Given the description of an element on the screen output the (x, y) to click on. 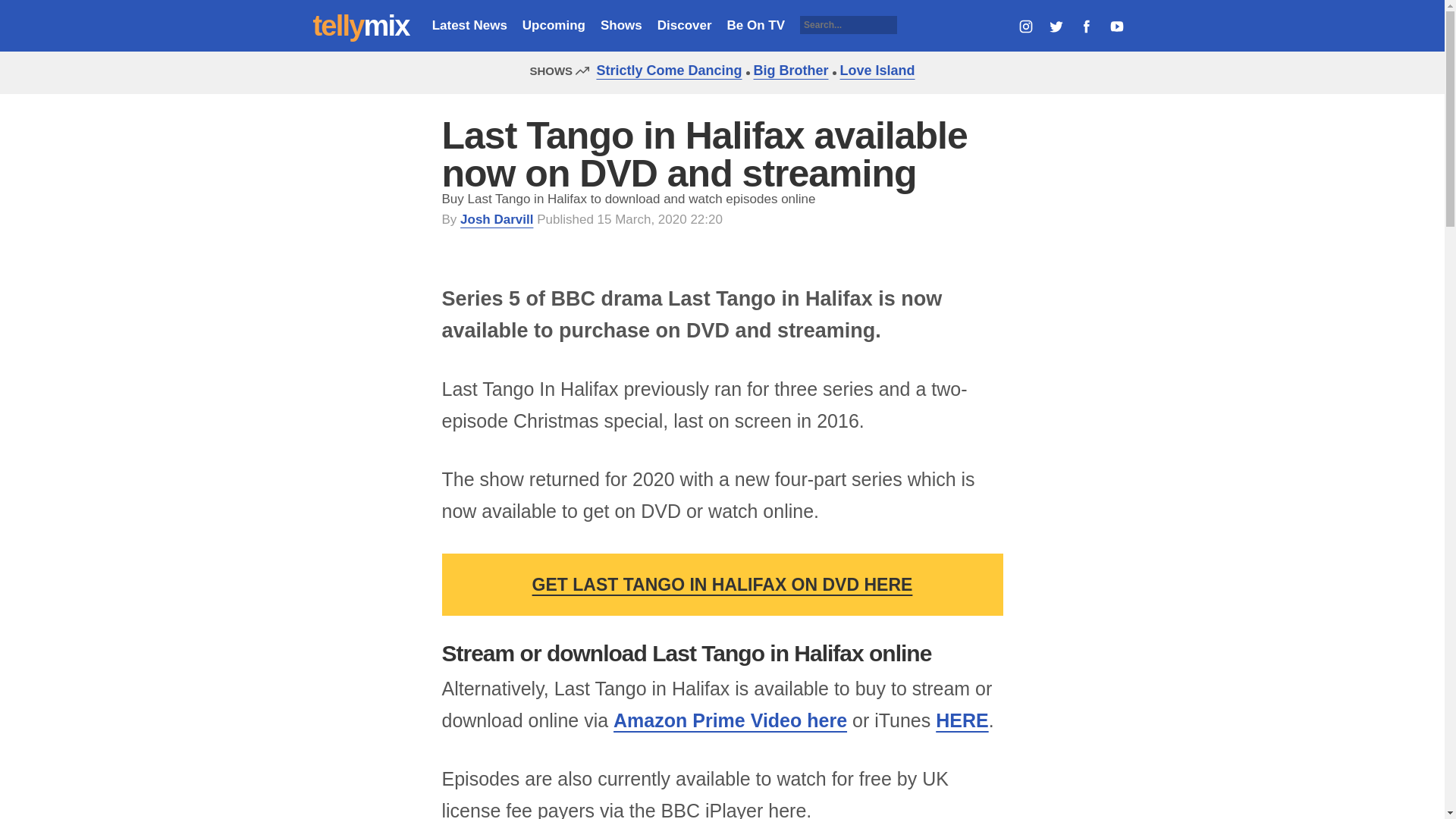
Love Island (873, 70)
Discover (684, 25)
HERE (962, 720)
Amazon Prime Video here (729, 720)
Upcoming (553, 25)
Be On TV (756, 25)
Latest News (469, 25)
Josh Darvill (496, 219)
GET LAST TANGO IN HALIFAX ON DVD HERE (722, 584)
tellymix (361, 25)
